Given the description of an element on the screen output the (x, y) to click on. 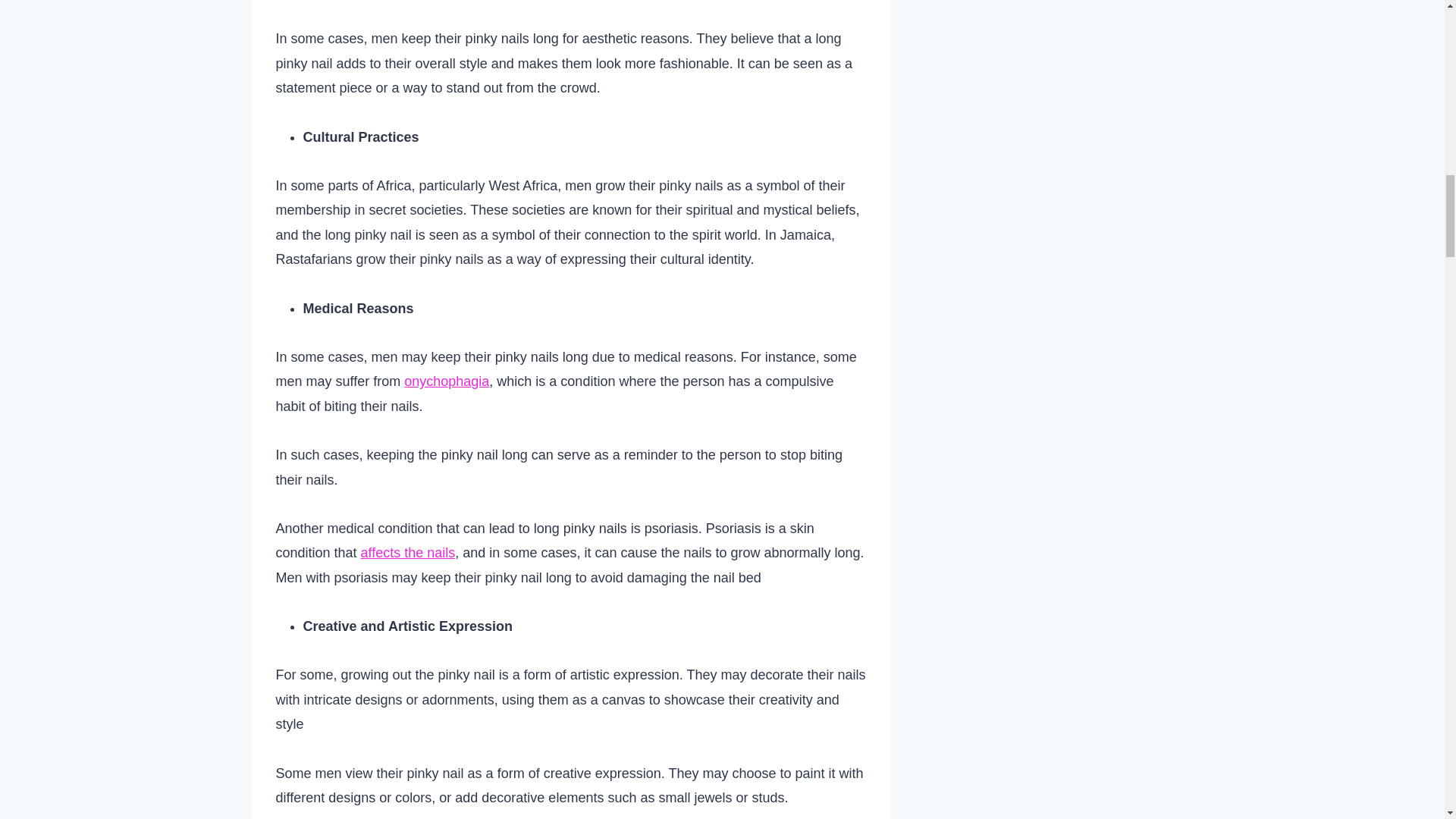
onychophagia (446, 381)
affects the nails (408, 552)
